Given the description of an element on the screen output the (x, y) to click on. 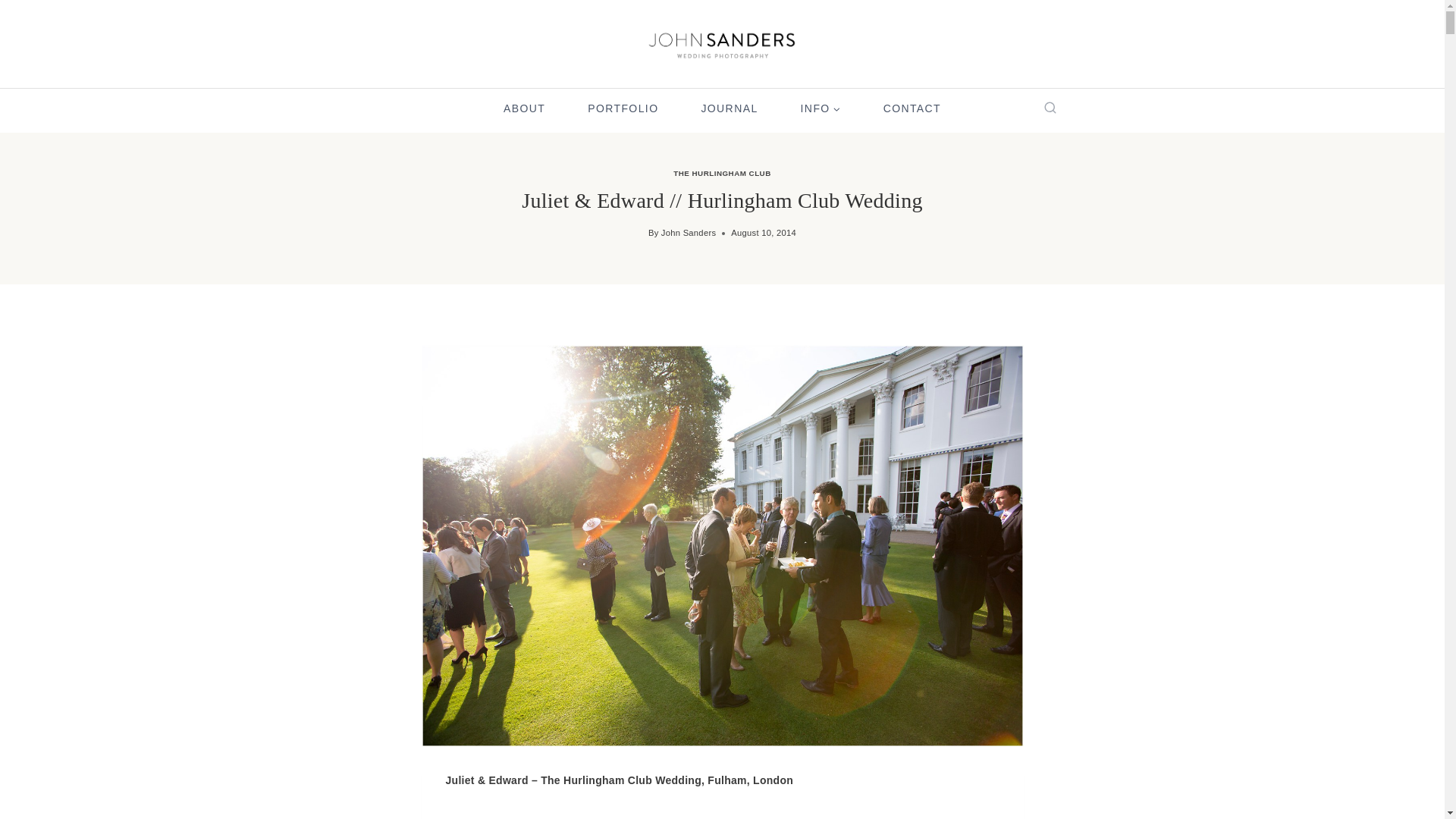
JOURNAL (728, 108)
CONTACT (911, 108)
THE HURLINGHAM CLUB (721, 172)
John Sanders (688, 232)
ABOUT (523, 108)
PORTFOLIO (622, 108)
INFO (819, 108)
